Given the description of an element on the screen output the (x, y) to click on. 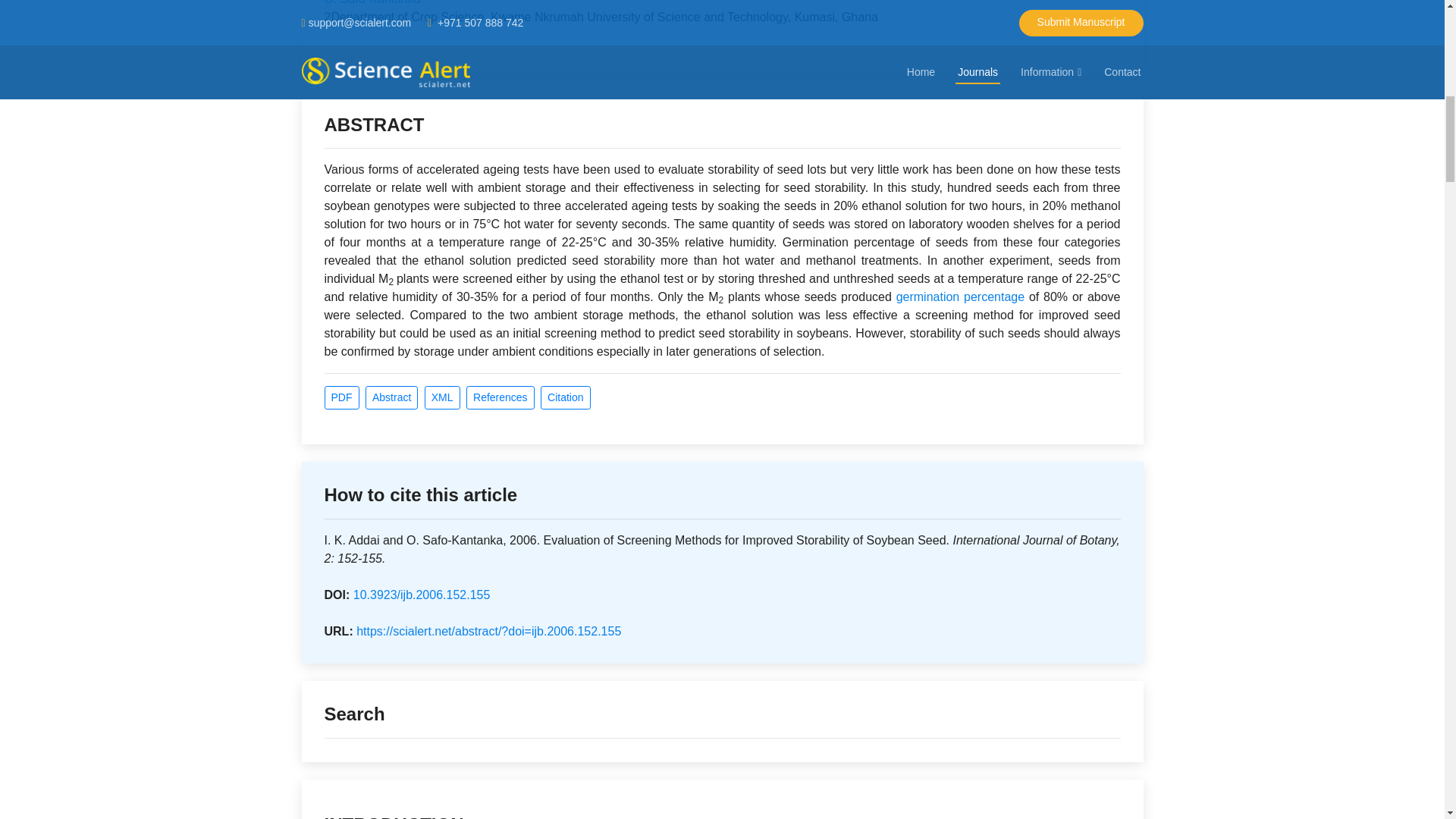
O. Safo-Kantanka (372, 2)
Find more articles containting germination percentage (960, 296)
PDF (341, 397)
germination percentage (960, 296)
Click to find out more papers by O.  Safo-Kantanka (372, 2)
